Given the description of an element on the screen output the (x, y) to click on. 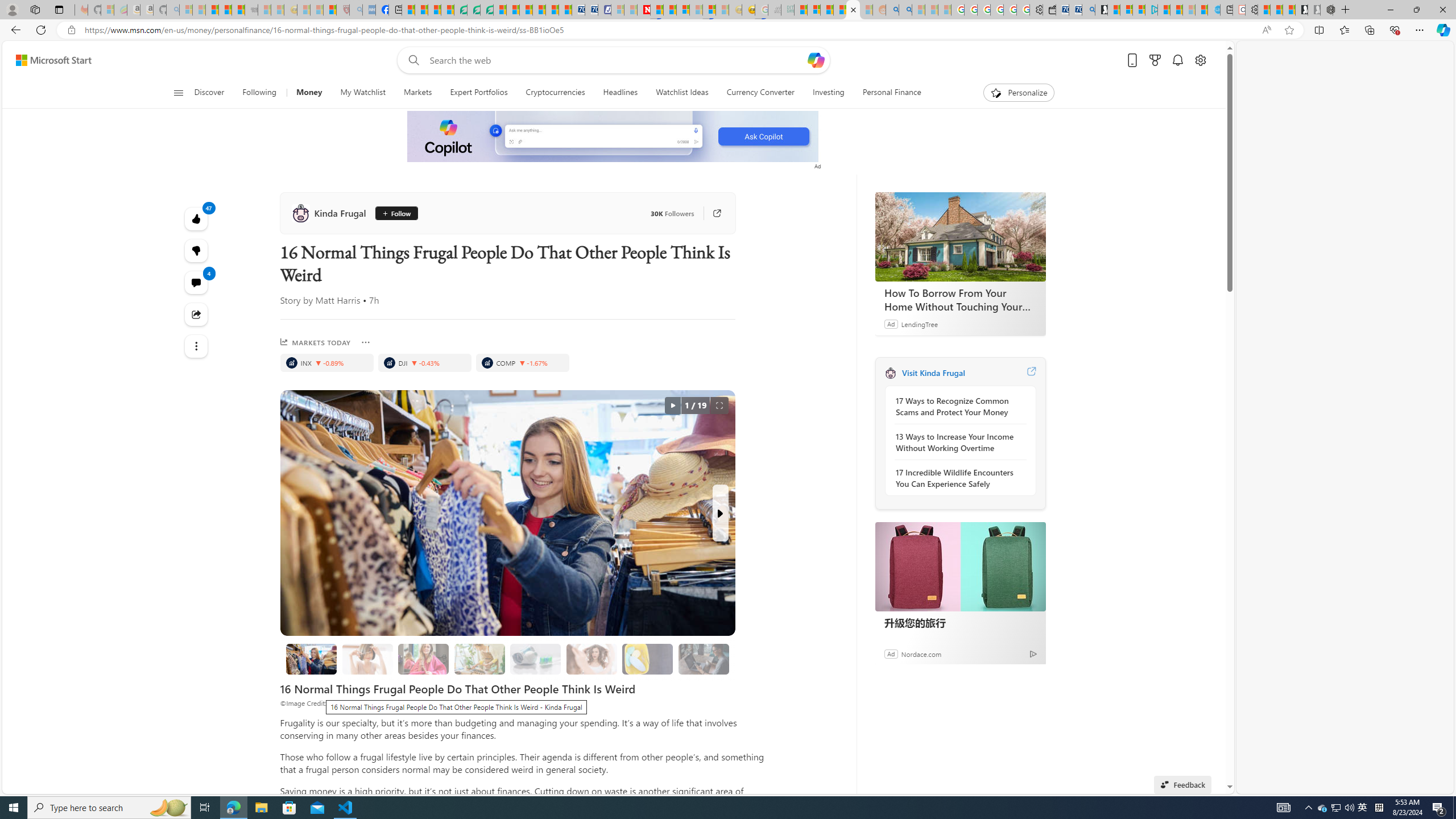
Open Copilot (816, 59)
47 Like (196, 218)
Home | Sky Blue Bikes - Sky Blue Bikes (1213, 9)
Investing (828, 92)
autorotate button (672, 405)
2. Donating Hair (423, 658)
The Weather Channel - MSN (212, 9)
App bar (728, 29)
Microsoft Word - consumer-privacy address update 2.2021 (486, 9)
8. Thrift Shopping (311, 659)
Personal Finance (891, 92)
Currency Converter (760, 92)
Go to publisher's site (710, 213)
